Given the description of an element on the screen output the (x, y) to click on. 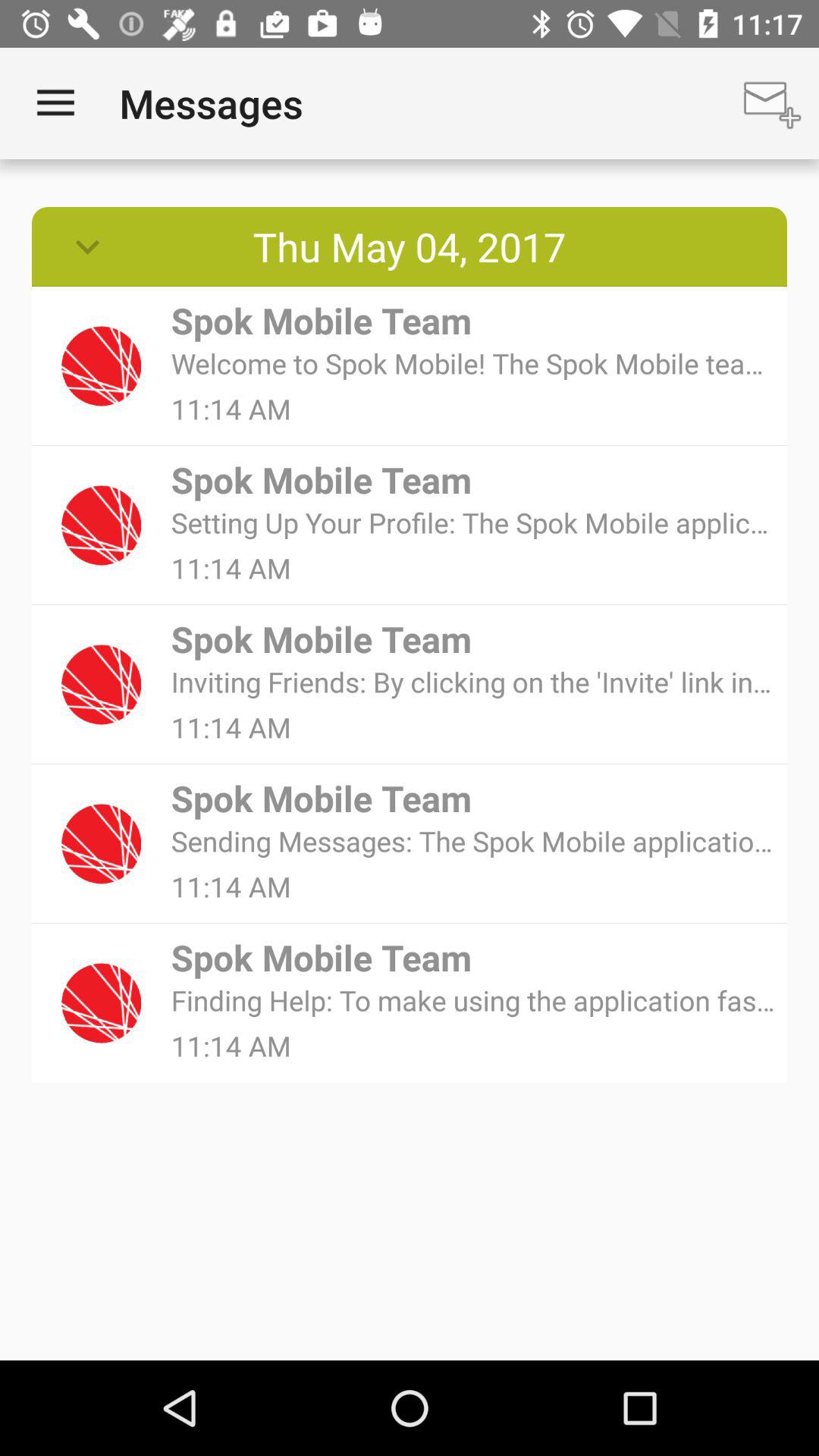
scroll to finding help to icon (473, 1000)
